Given the description of an element on the screen output the (x, y) to click on. 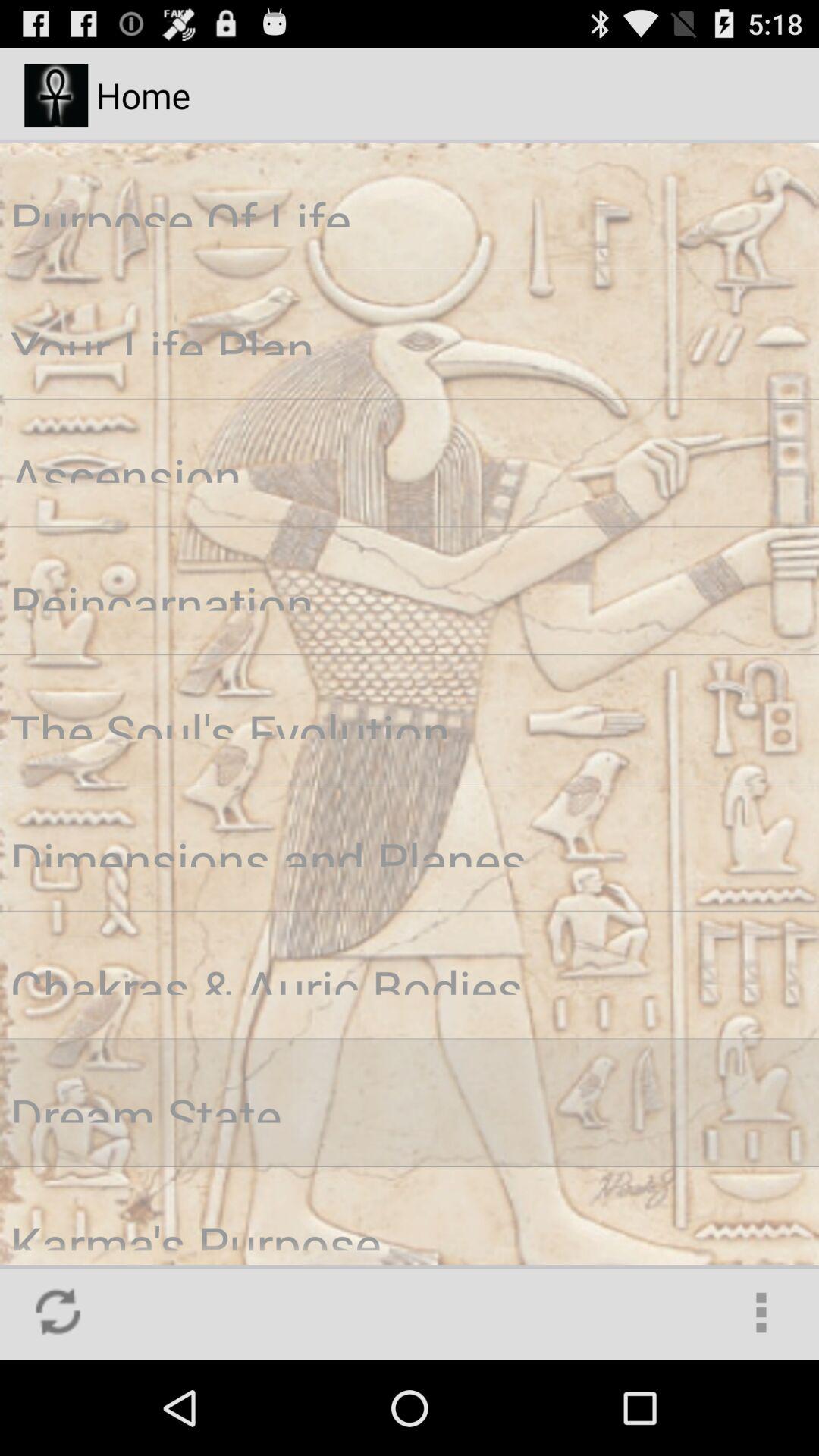
tap the icon at the bottom left corner (58, 1312)
